Given the description of an element on the screen output the (x, y) to click on. 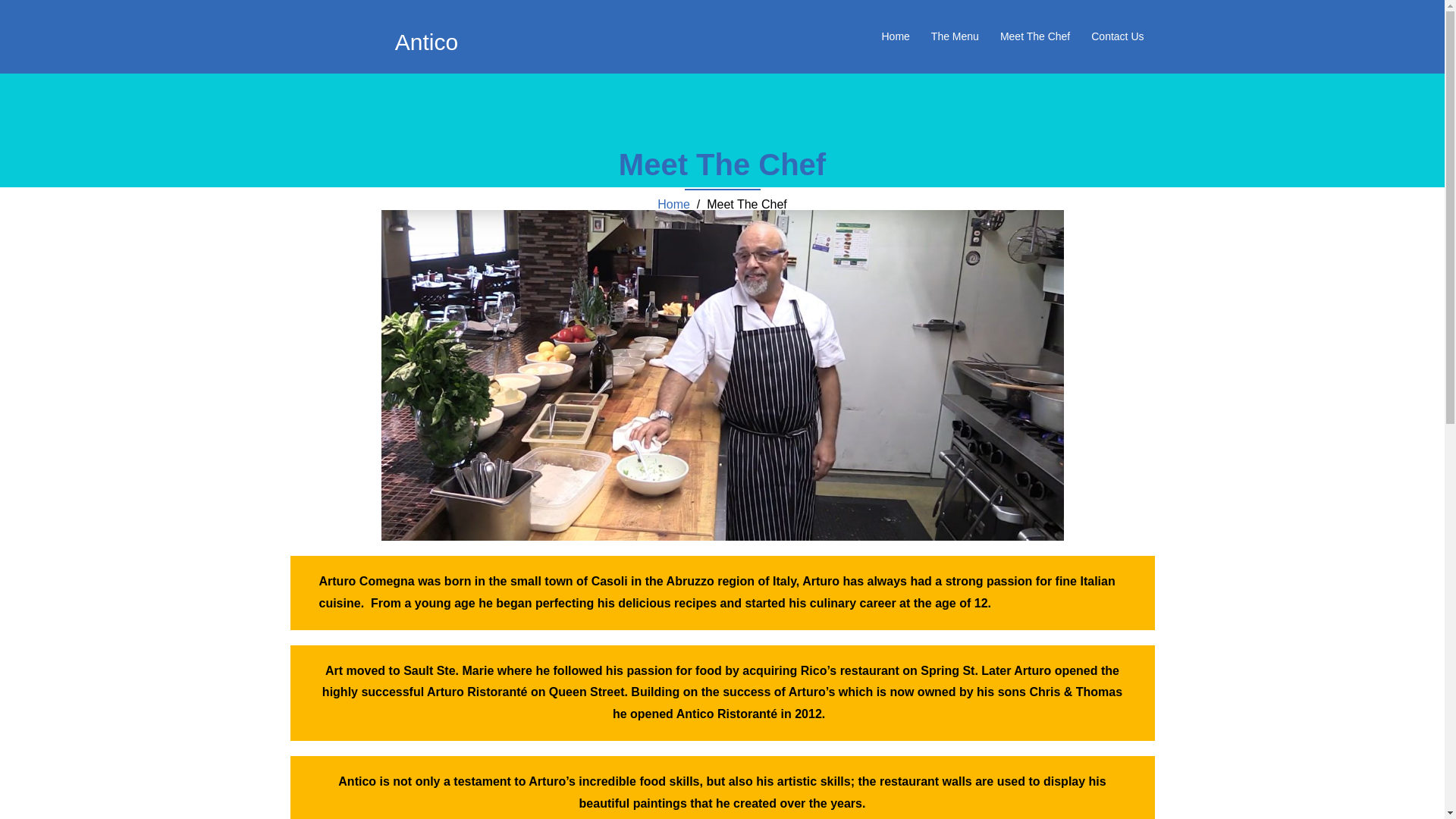
The Menu Element type: text (955, 36)
Home Element type: text (673, 203)
Antico Element type: text (426, 41)
Home Element type: text (895, 36)
Contact Us Element type: text (1117, 36)
Meet The Chef Element type: text (1035, 36)
